Given the description of an element on the screen output the (x, y) to click on. 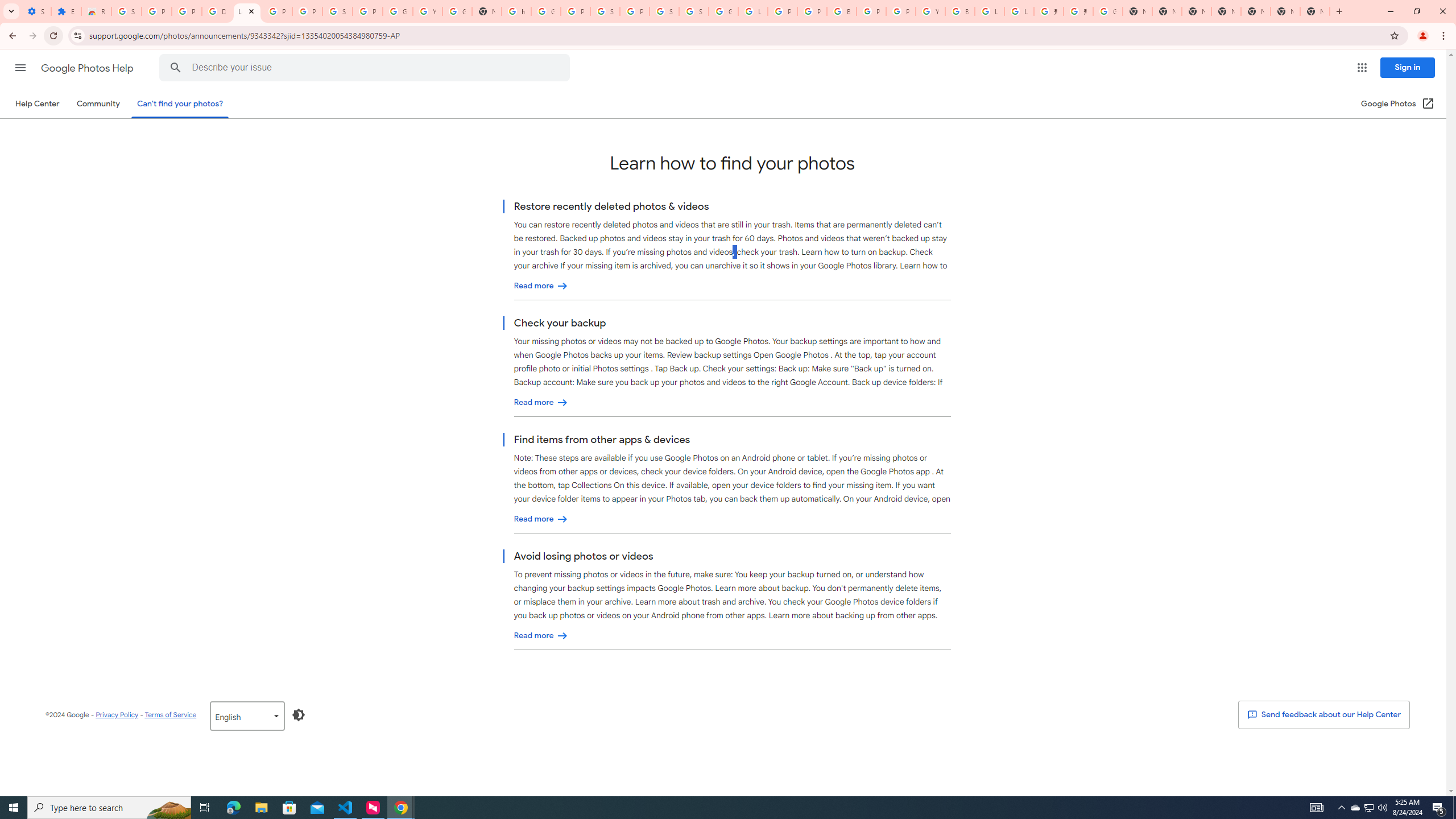
Find items from other apps & devices (541, 518)
Delete photos & videos - Computer - Google Photos Help (216, 11)
Privacy Help Center - Policies Help (811, 11)
Reviews: Helix Fruit Jump Arcade Game (95, 11)
Enable Dark Mode (299, 714)
Help Center (36, 103)
Google Account (397, 11)
